Given the description of an element on the screen output the (x, y) to click on. 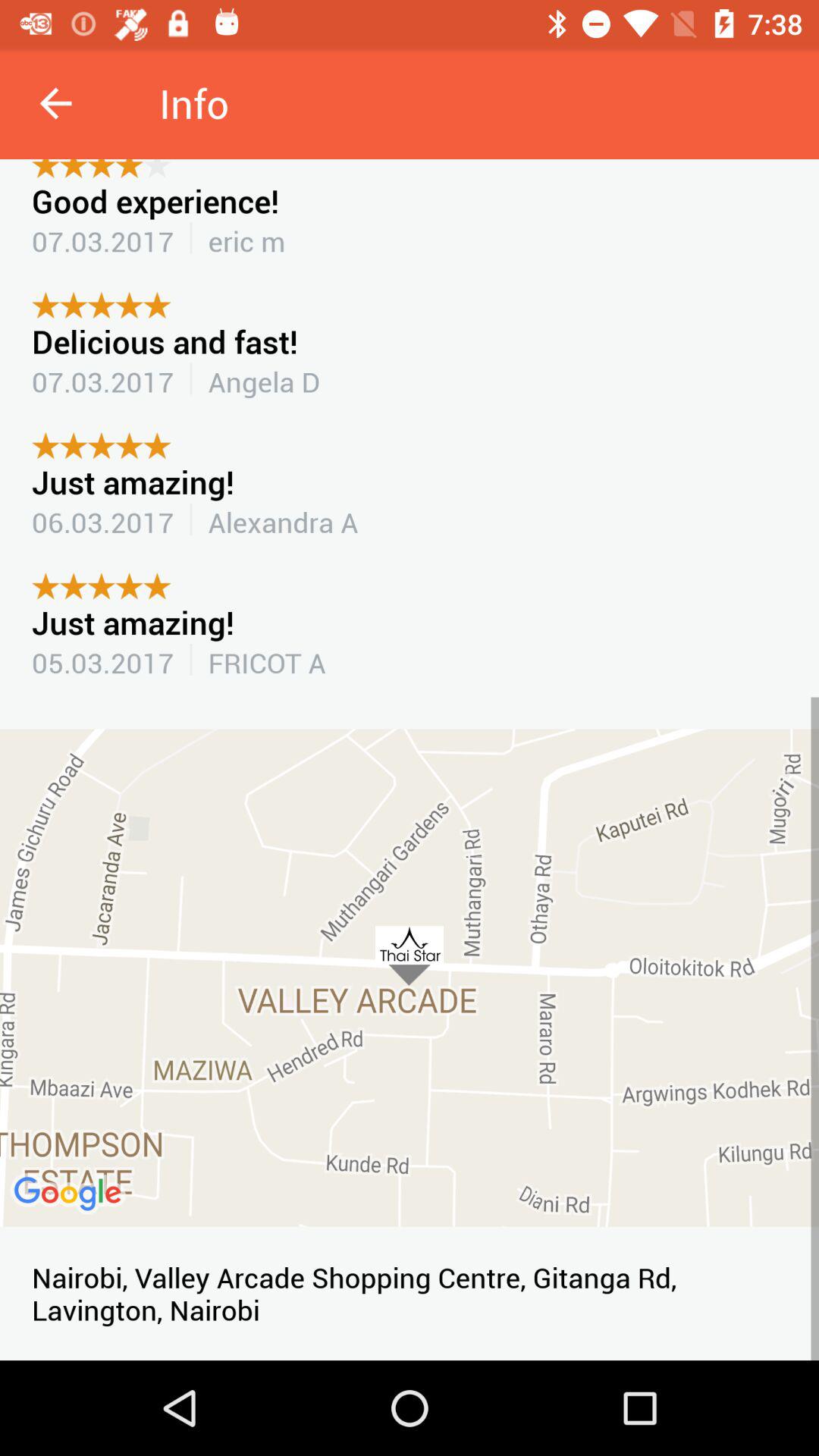
press icon above nairobi valley arcade item (409, 977)
